Given the description of an element on the screen output the (x, y) to click on. 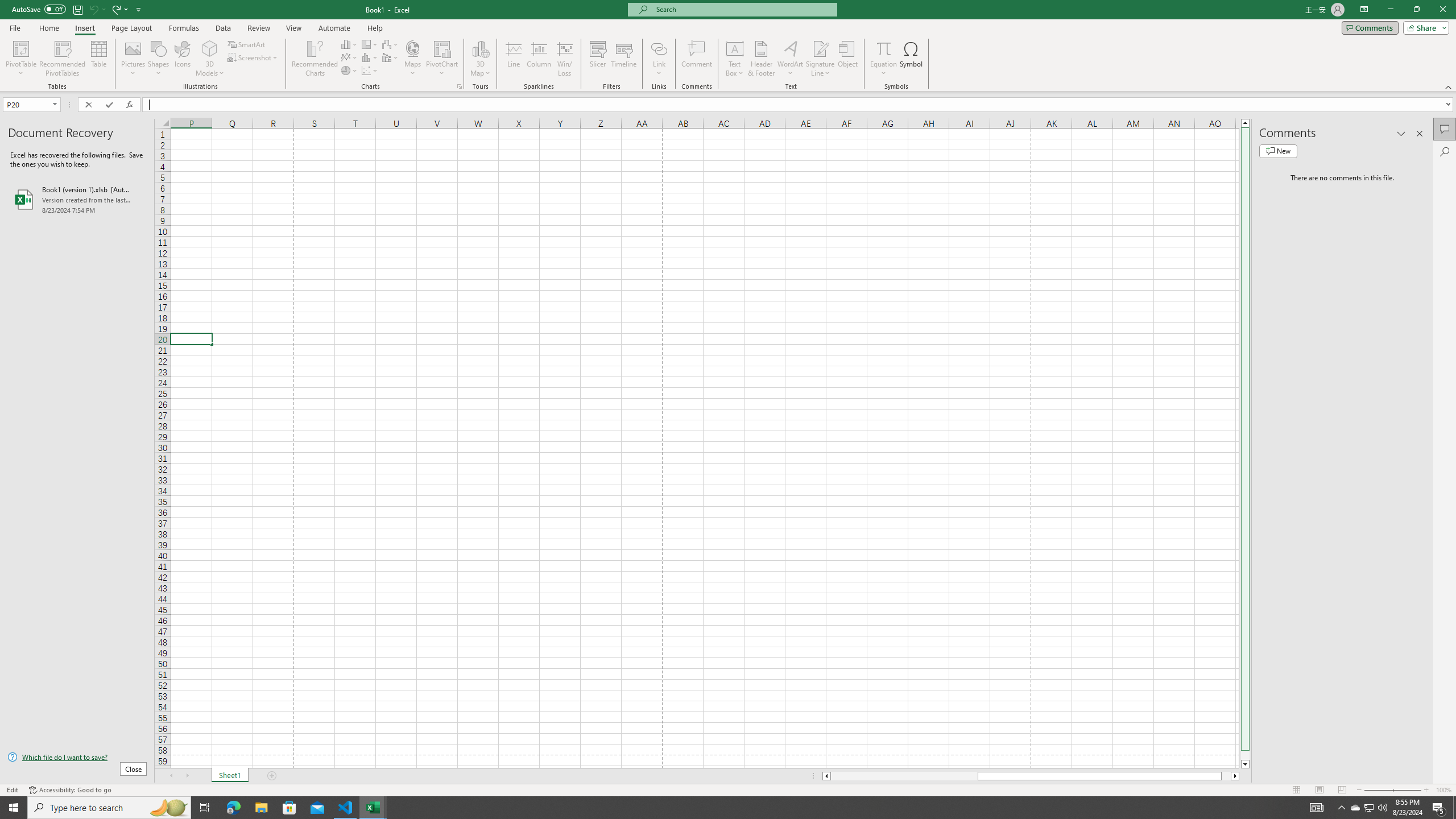
Sheet1 (229, 775)
3D Map (480, 58)
Undo (96, 9)
Microsoft search (742, 9)
Icons (182, 58)
Line down (1245, 764)
System (6, 6)
Page left (903, 775)
Which file do I want to save? (77, 757)
Column left (826, 775)
Name Box (27, 104)
Page down (1245, 755)
Recommended Charts (459, 85)
Page Layout (131, 28)
